Given the description of an element on the screen output the (x, y) to click on. 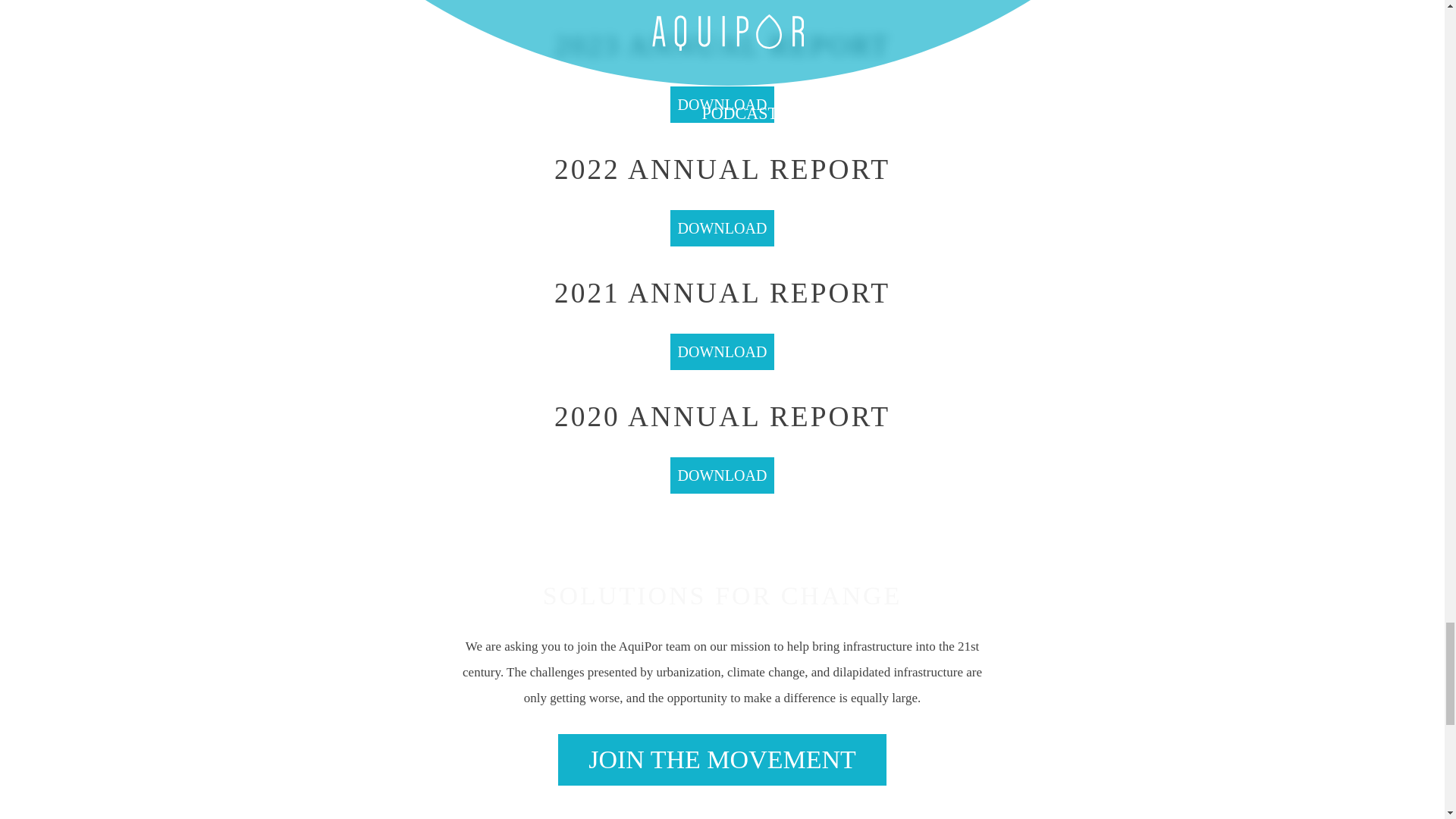
DOWNLOAD (721, 351)
DOWNLOAD (721, 104)
JOIN THE MOVEMENT (721, 759)
DOWNLOAD (721, 227)
DOWNLOAD (721, 475)
